Given the description of an element on the screen output the (x, y) to click on. 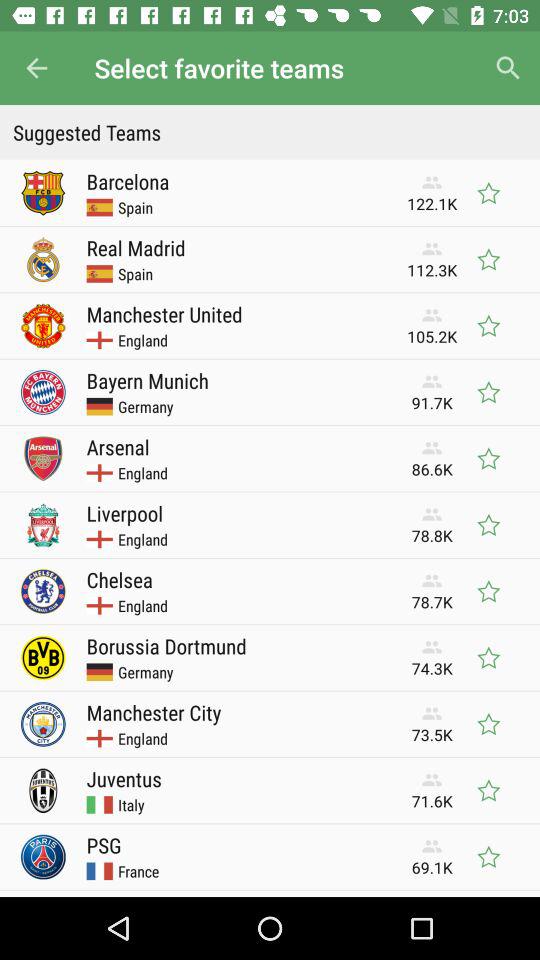
click the item next to 78.7k icon (119, 579)
